Given the description of an element on the screen output the (x, y) to click on. 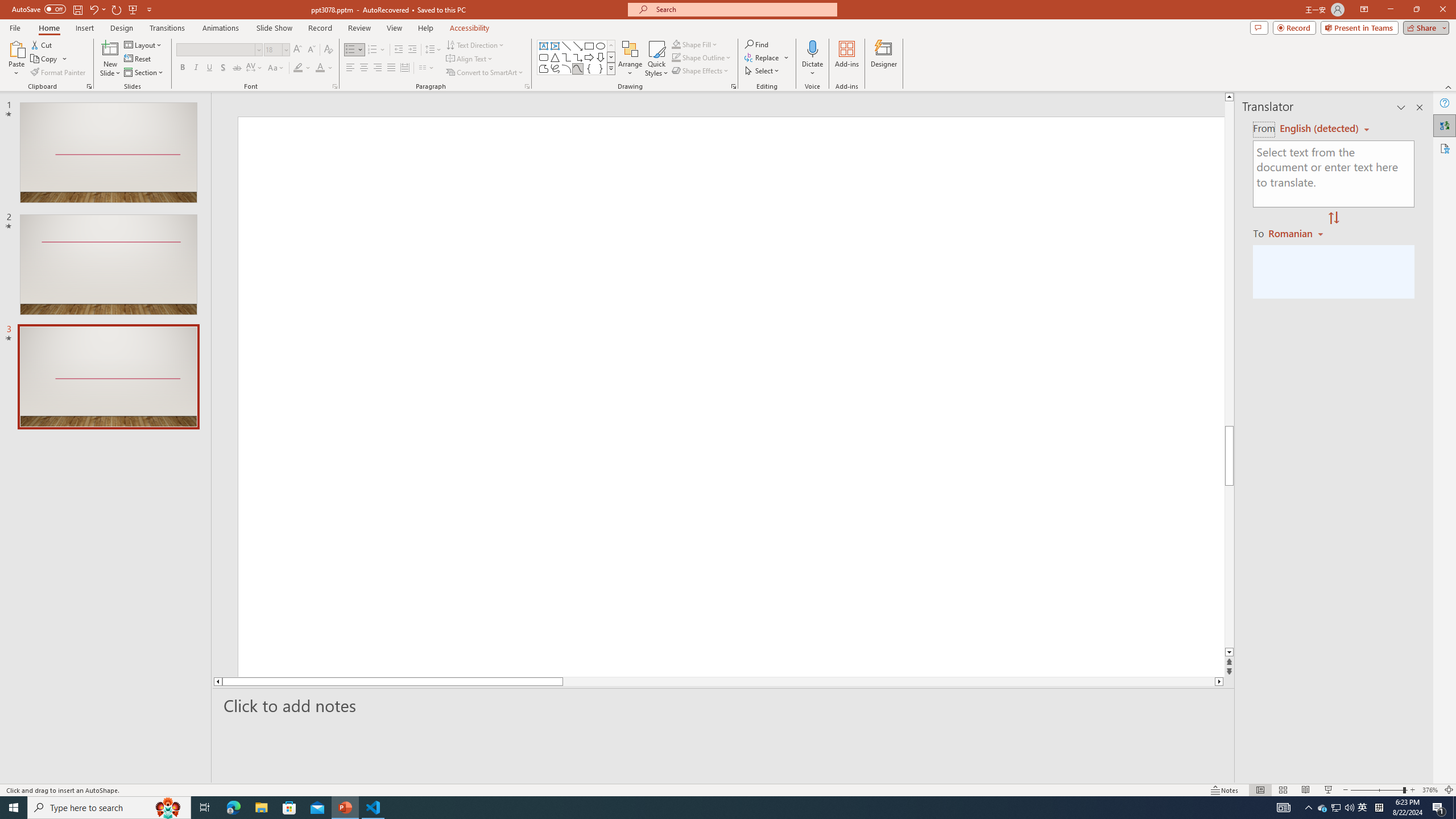
Czech (detected) (1319, 128)
Shape Effects (700, 69)
